Given the description of an element on the screen output the (x, y) to click on. 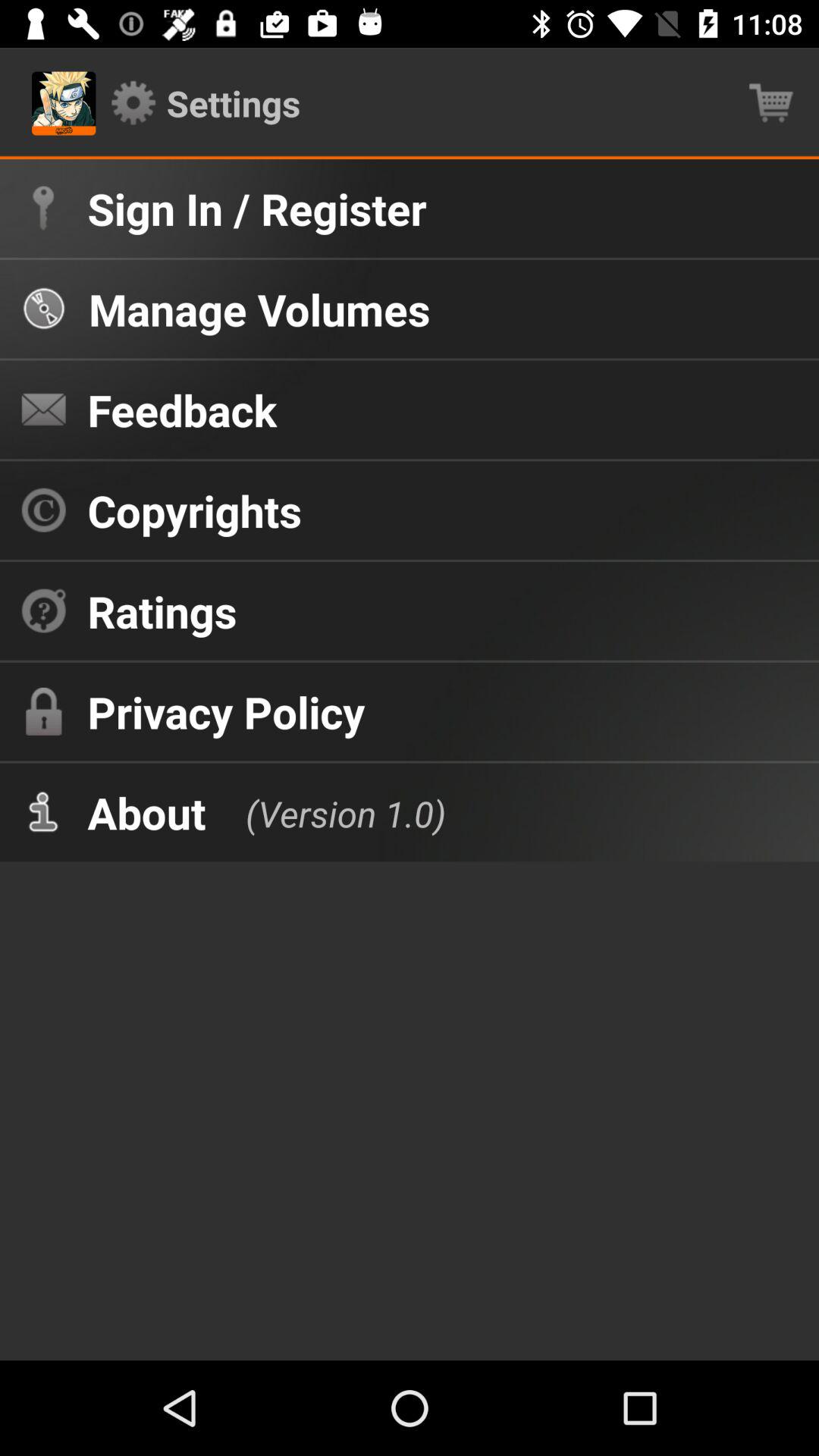
tap the item above the feedback item (259, 308)
